Given the description of an element on the screen output the (x, y) to click on. 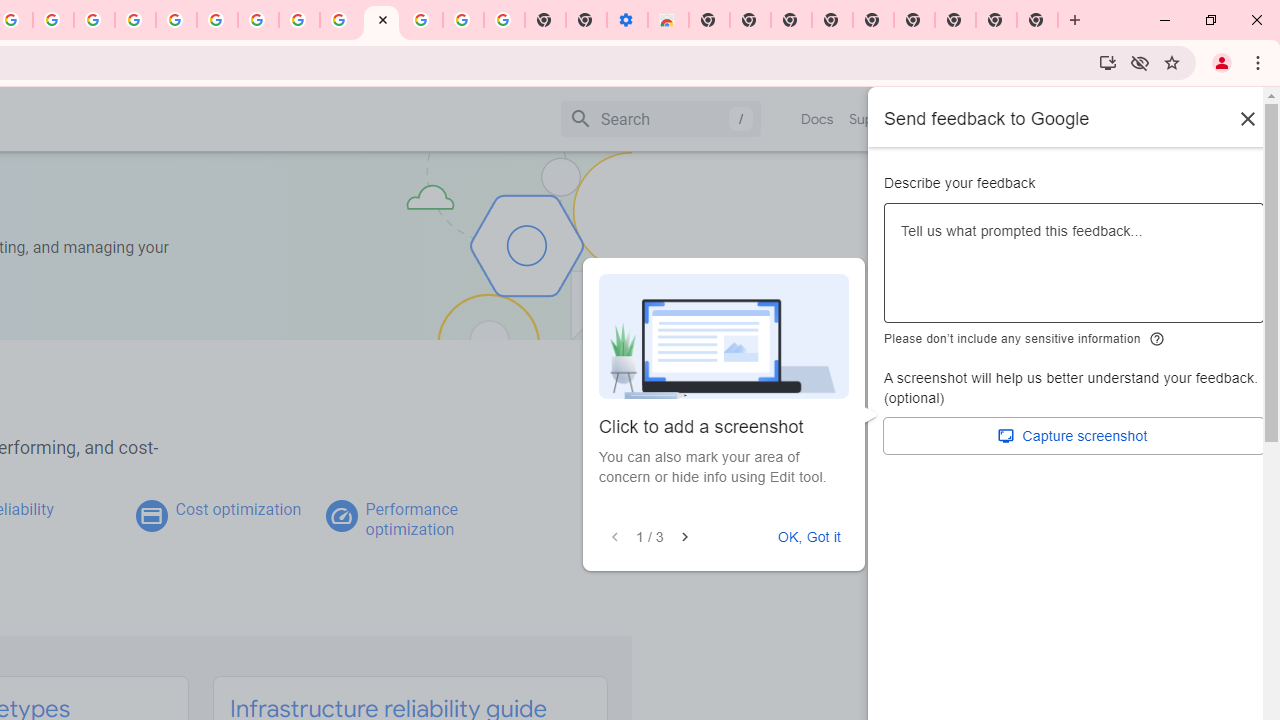
Create your Google Account (299, 20)
Turn cookies on or off - Computer - Google Account Help (503, 20)
Ad Settings (135, 20)
Docs (817, 119)
Sign in (1092, 118)
Google Account Help (217, 20)
Search (660, 118)
Google Account Help (462, 20)
Sign in - Google Accounts (176, 20)
Cost optimization (238, 509)
Sign in - Google Accounts (421, 20)
